Given the description of an element on the screen output the (x, y) to click on. 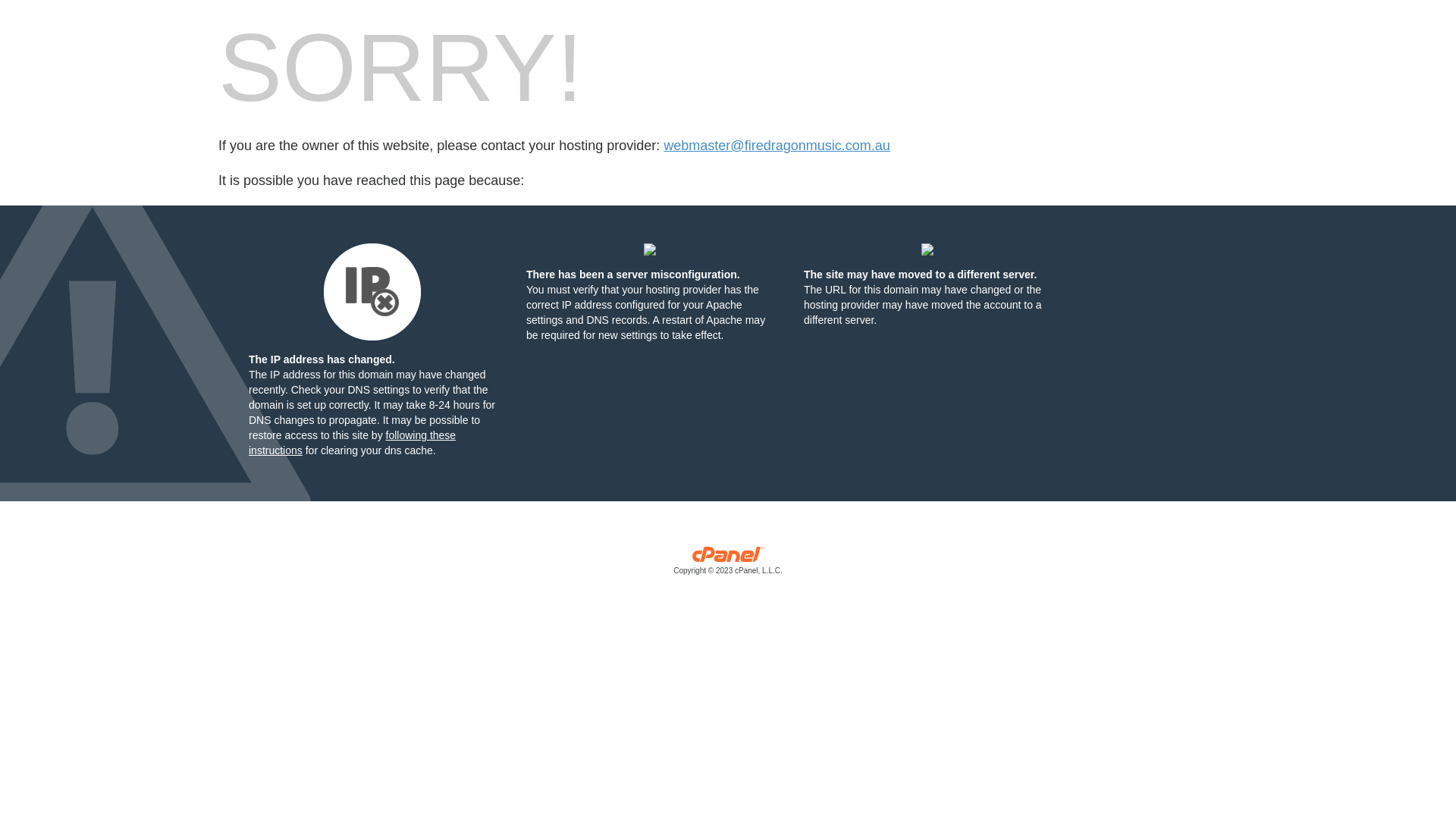
webmaster@firedragonmusic.com.au Element type: text (776, 145)
following these instructions Element type: text (351, 442)
